Given the description of an element on the screen output the (x, y) to click on. 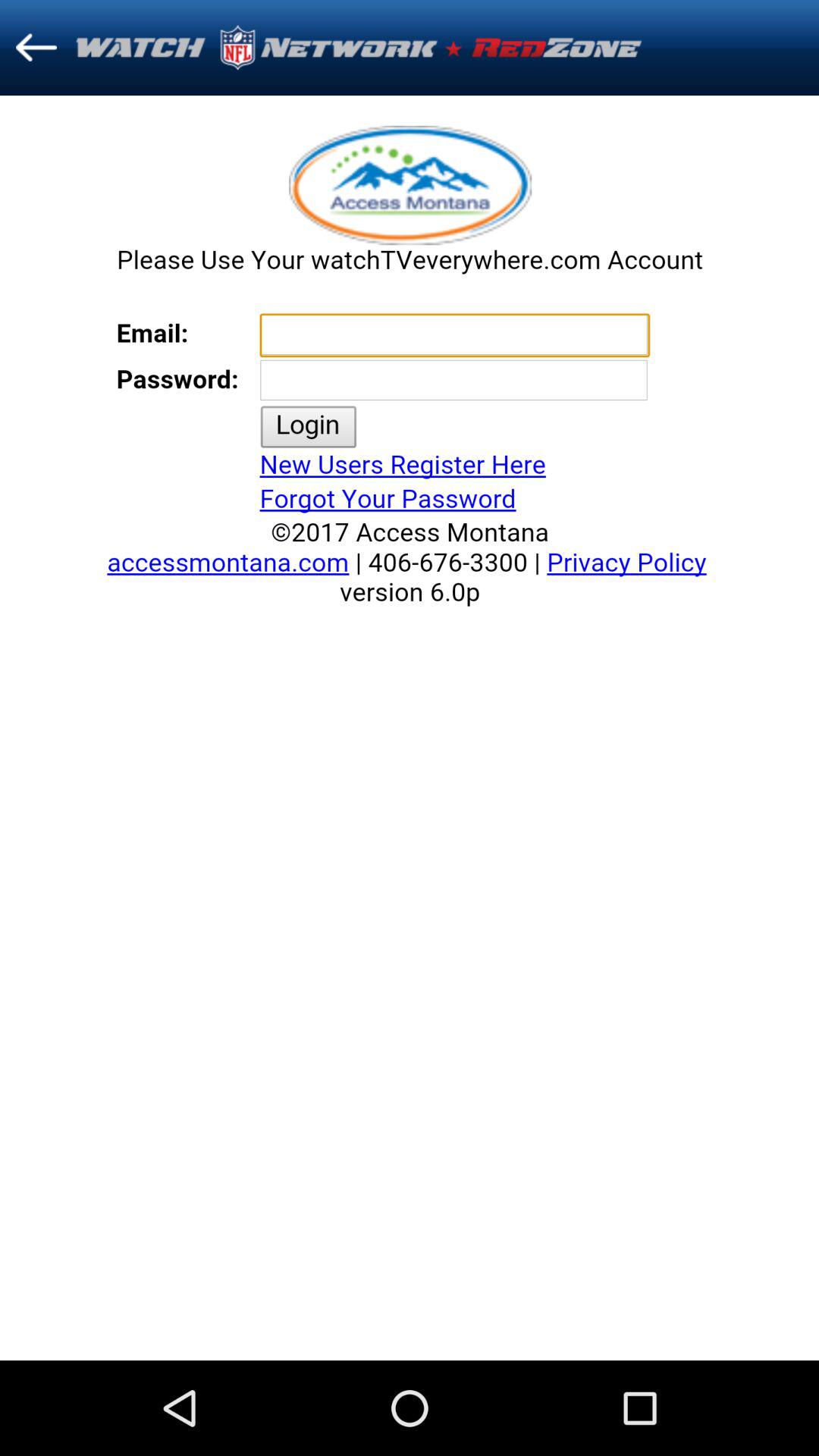
enter credentials (409, 727)
